Given the description of an element on the screen output the (x, y) to click on. 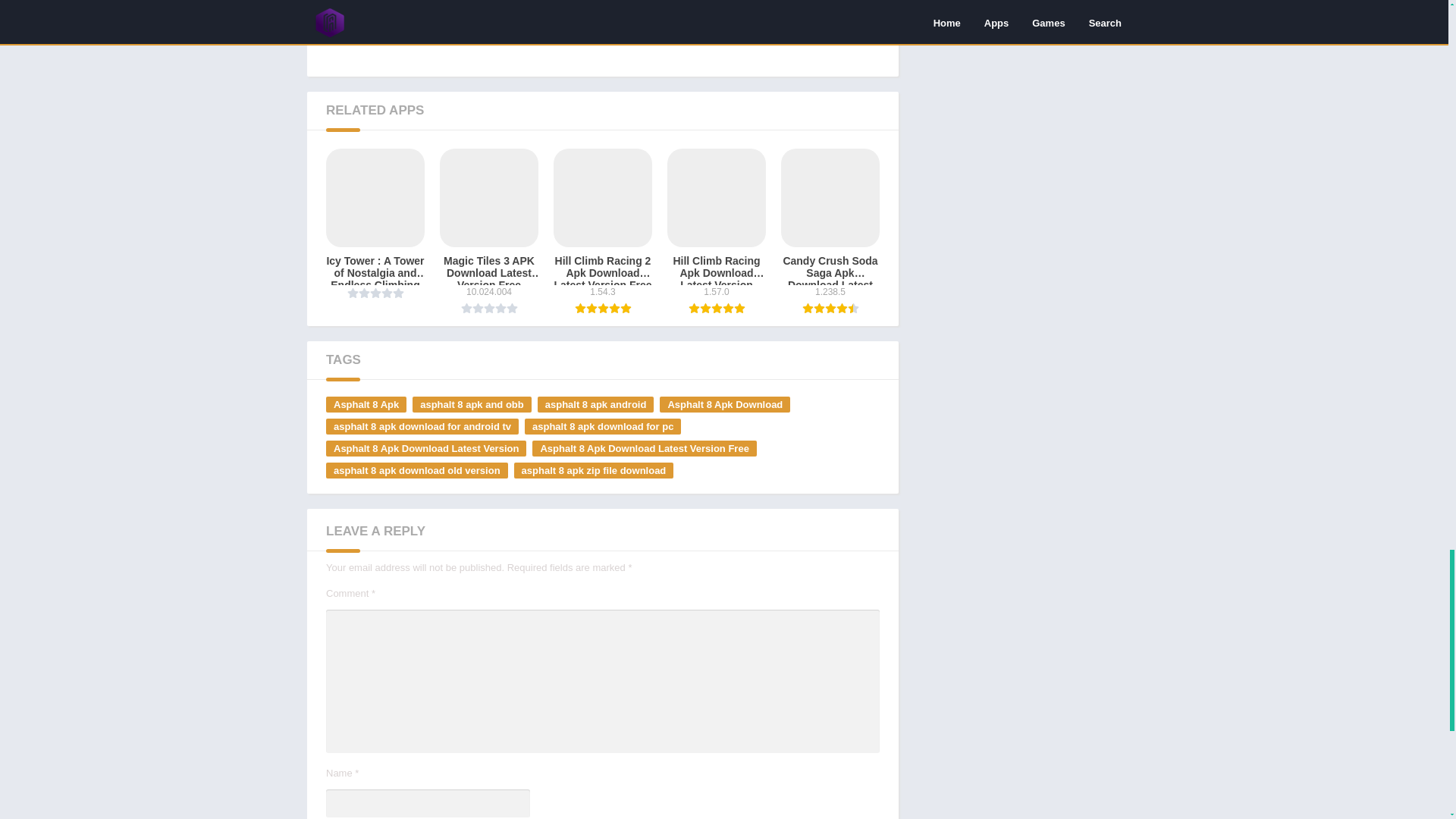
Asphalt 8 Apk (366, 404)
asphalt 8 apk and obb (471, 404)
